Given the description of an element on the screen output the (x, y) to click on. 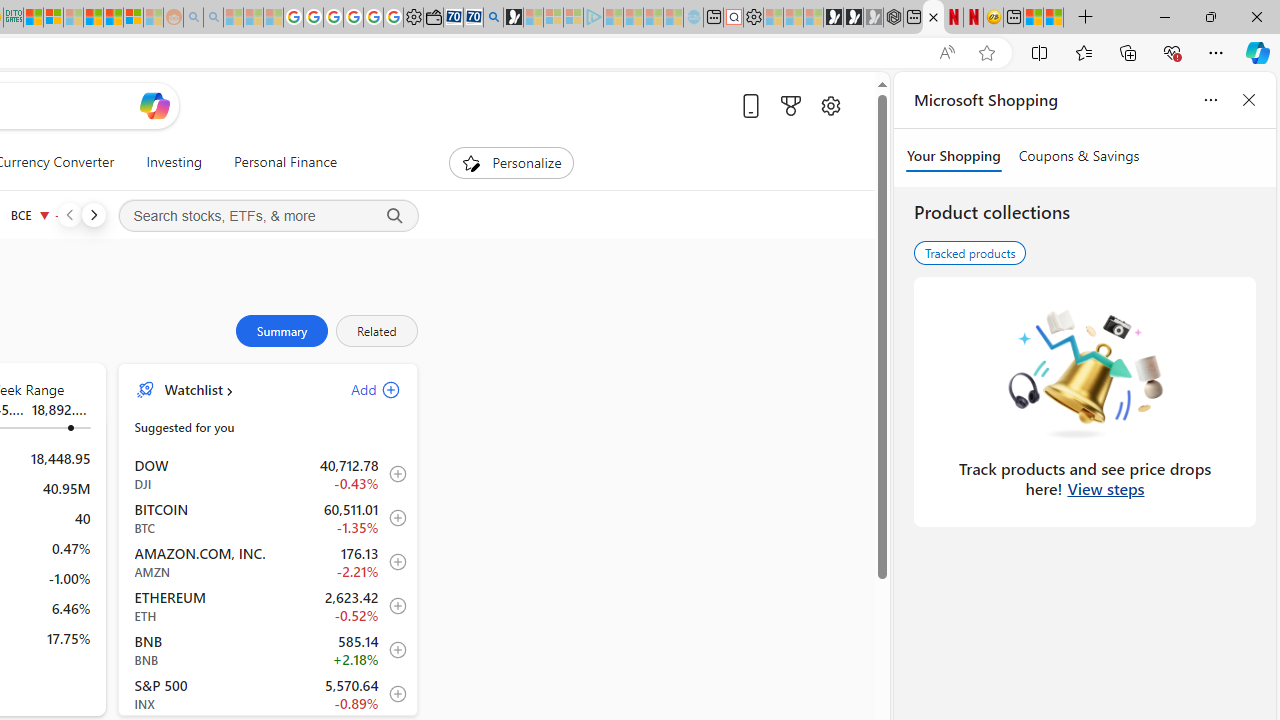
Kinda Frugal - MSN (112, 17)
